Given the description of an element on the screen output the (x, y) to click on. 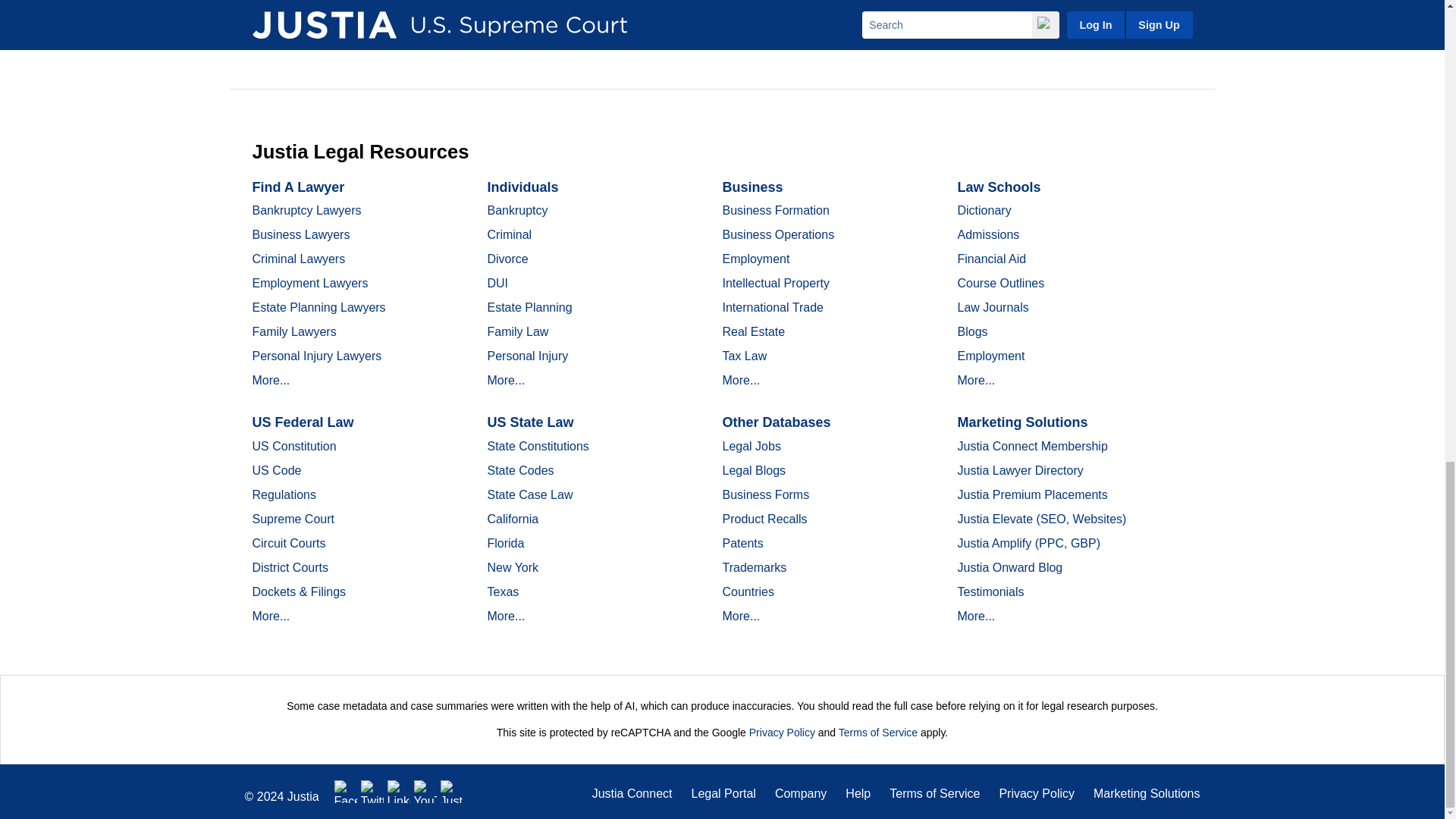
Facebook (345, 791)
Justia Lawyer Directory (452, 791)
YouTube (424, 791)
Twitter (372, 791)
LinkedIn (398, 791)
